Given the description of an element on the screen output the (x, y) to click on. 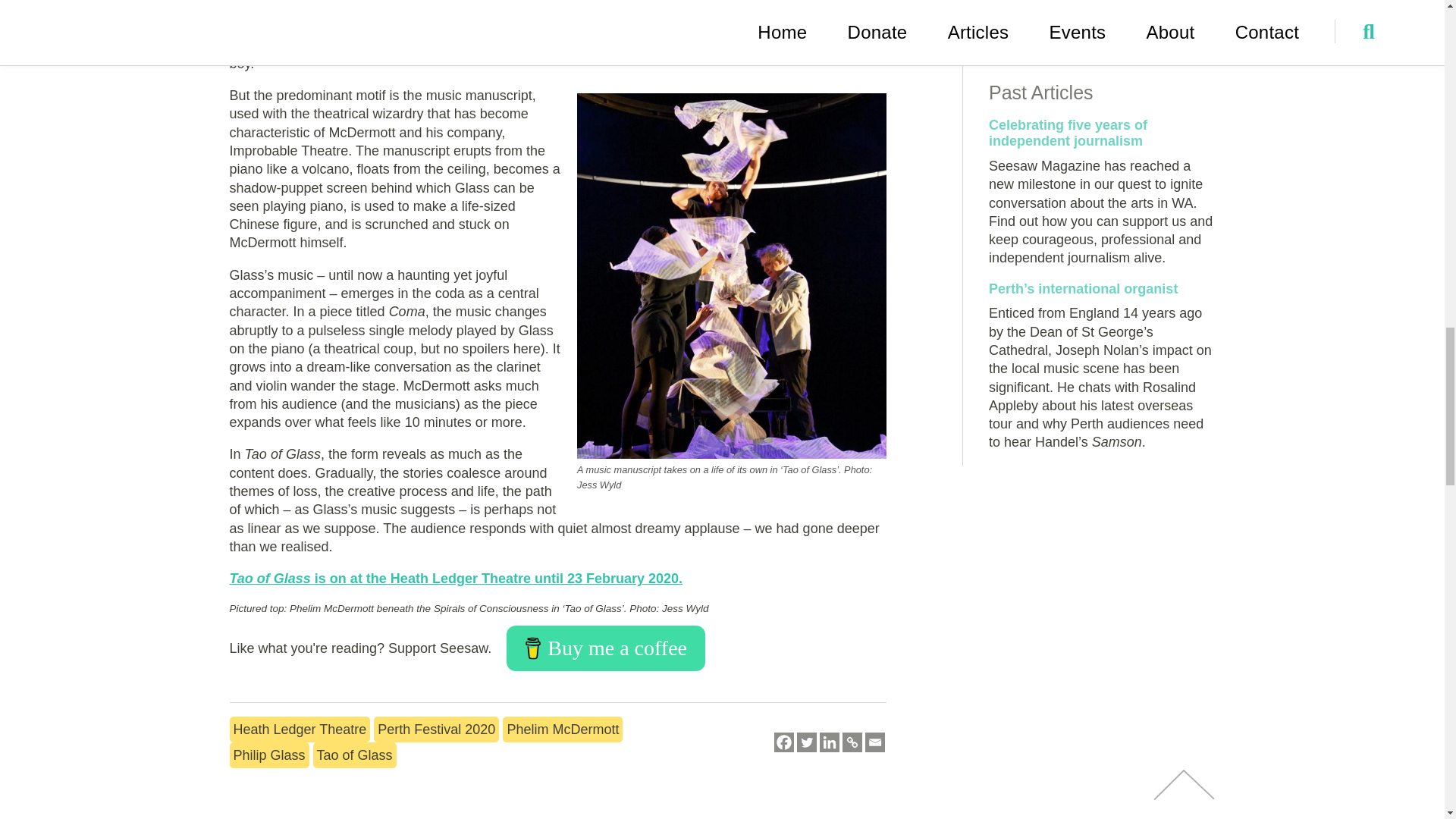
Facebook (783, 742)
Email (874, 742)
Linkedin (829, 742)
Twitter (806, 742)
Copy Link (852, 742)
